Given the description of an element on the screen output the (x, y) to click on. 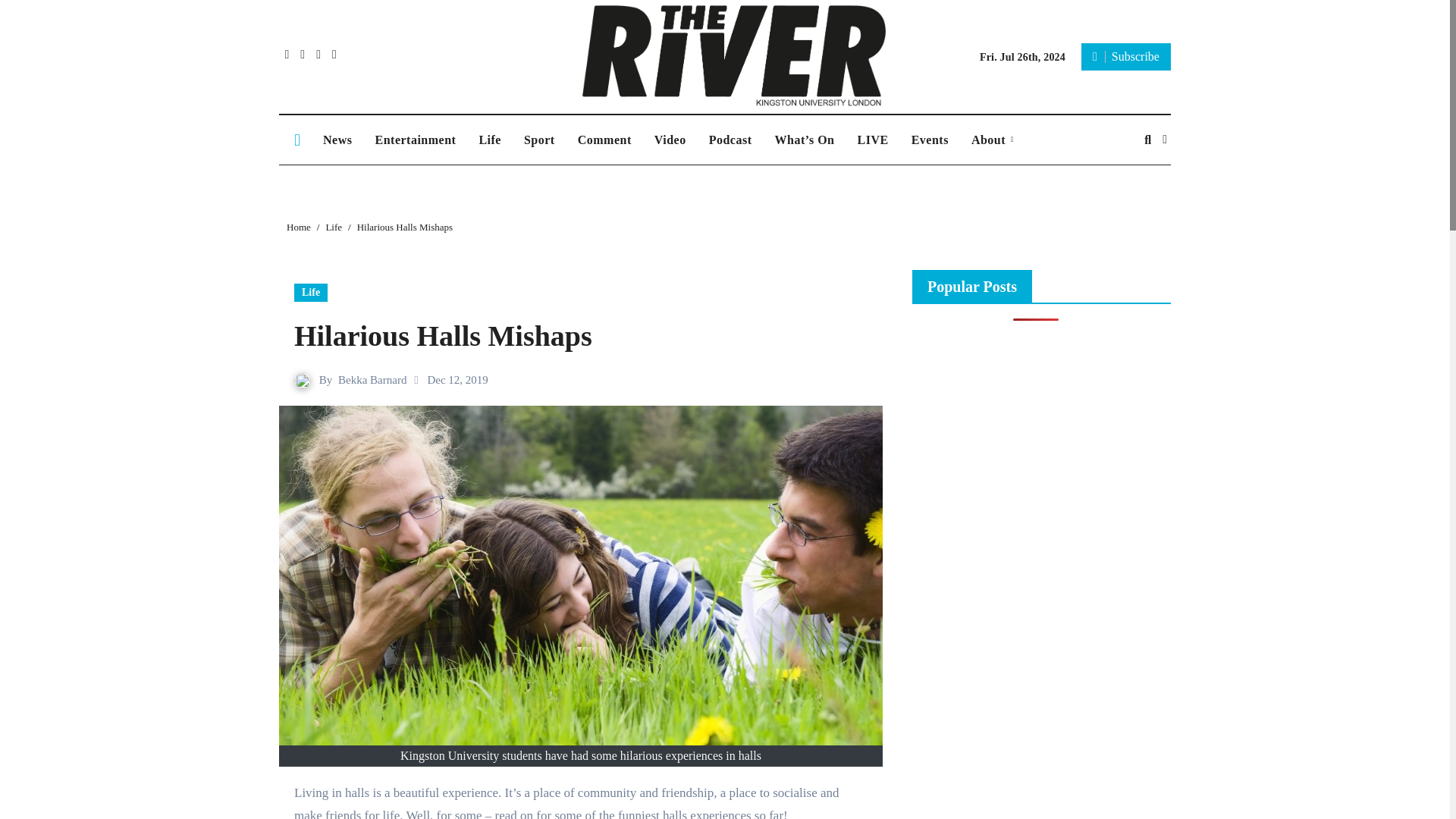
Video (670, 139)
Entertainment (414, 139)
News (336, 139)
News (336, 139)
About (992, 139)
Life (489, 139)
Sport (539, 139)
Life (310, 292)
Podcast (729, 139)
Entertainment (414, 139)
